Given the description of an element on the screen output the (x, y) to click on. 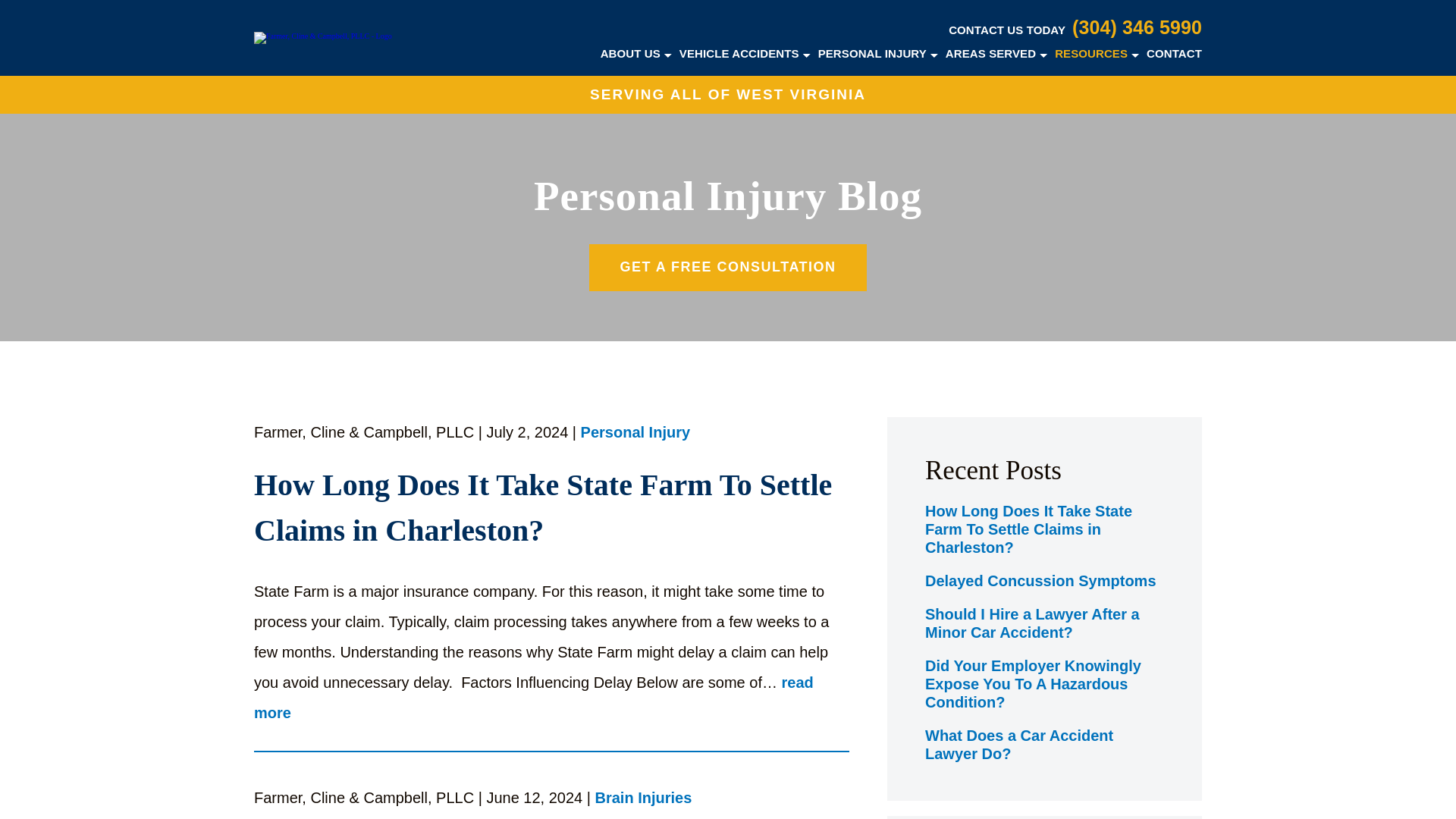
ABOUT US (630, 52)
PERSONAL INJURY (872, 52)
RESOURCES (1090, 52)
Brain Injuries (644, 798)
Personal Injury (635, 433)
read more (533, 698)
CONTACT (1174, 52)
GET A FREE CONSULTATION (727, 267)
AREAS SERVED (989, 52)
VEHICLE ACCIDENTS (739, 52)
